Given the description of an element on the screen output the (x, y) to click on. 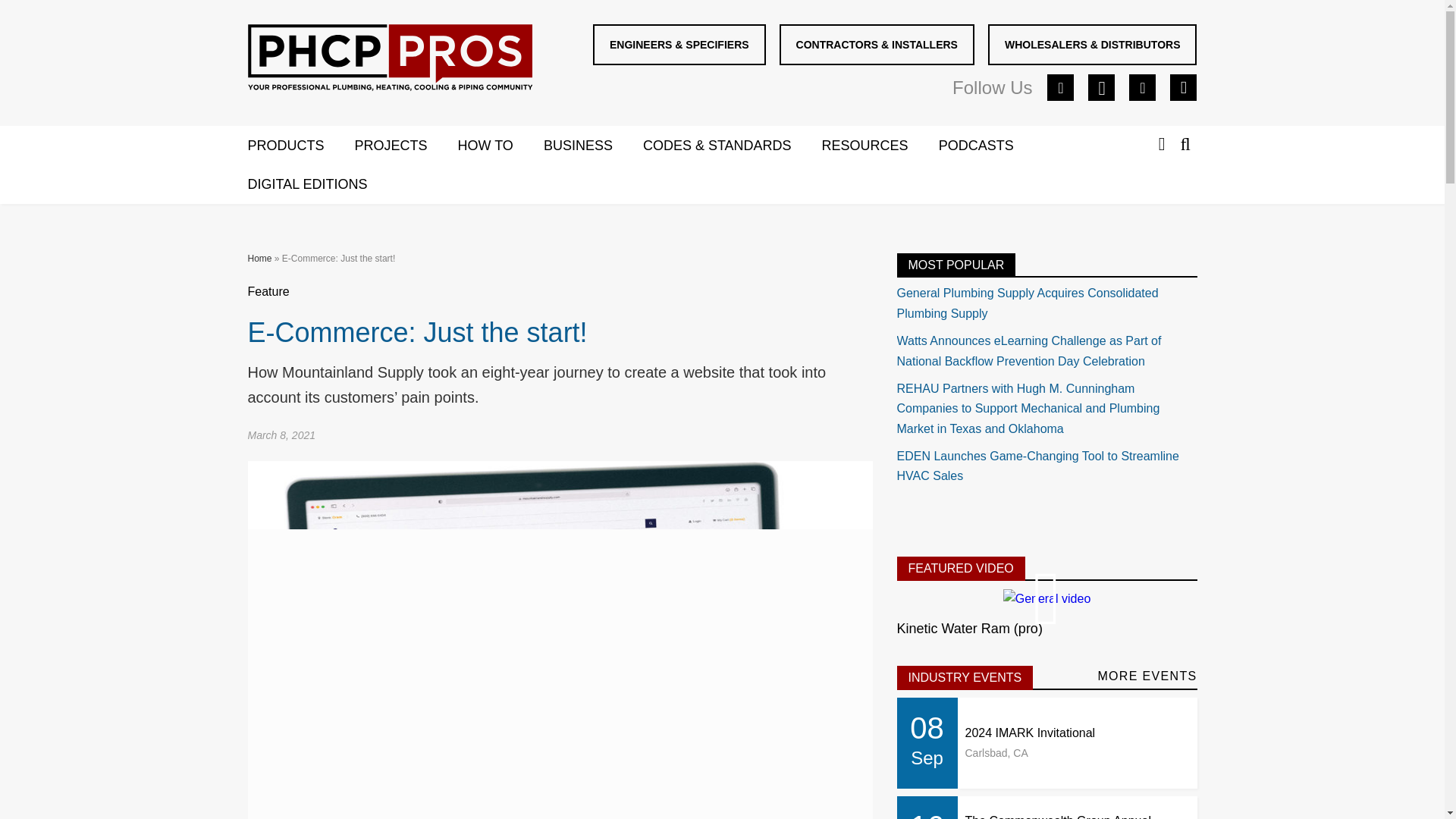
PROJECTS (406, 146)
PRODUCTS (300, 146)
logo (389, 57)
logo (389, 60)
HOW TO (500, 146)
BUSINESS (593, 146)
